Given the description of an element on the screen output the (x, y) to click on. 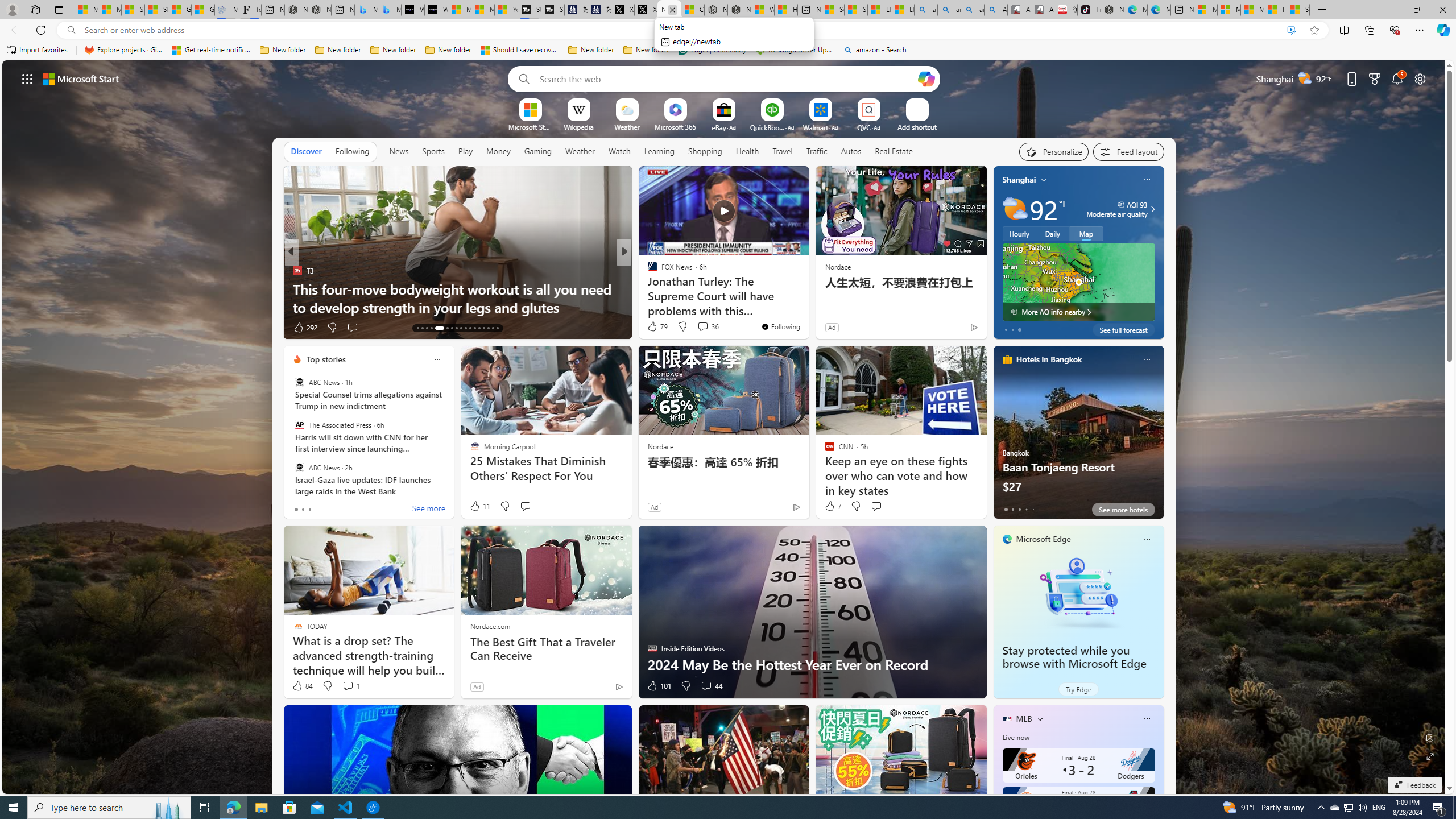
AutomationID: tab-38 (488, 328)
AutomationID: tab-39 (492, 328)
Enhance video (1291, 29)
Personalize your feed" (1054, 151)
15 Like (652, 327)
X (645, 9)
View comments 44 Comment (705, 685)
TikTok (1089, 9)
Hide this story (774, 179)
84 Like (301, 685)
Import favorites (36, 49)
Login | Grammarly (712, 49)
